Given the description of an element on the screen output the (x, y) to click on. 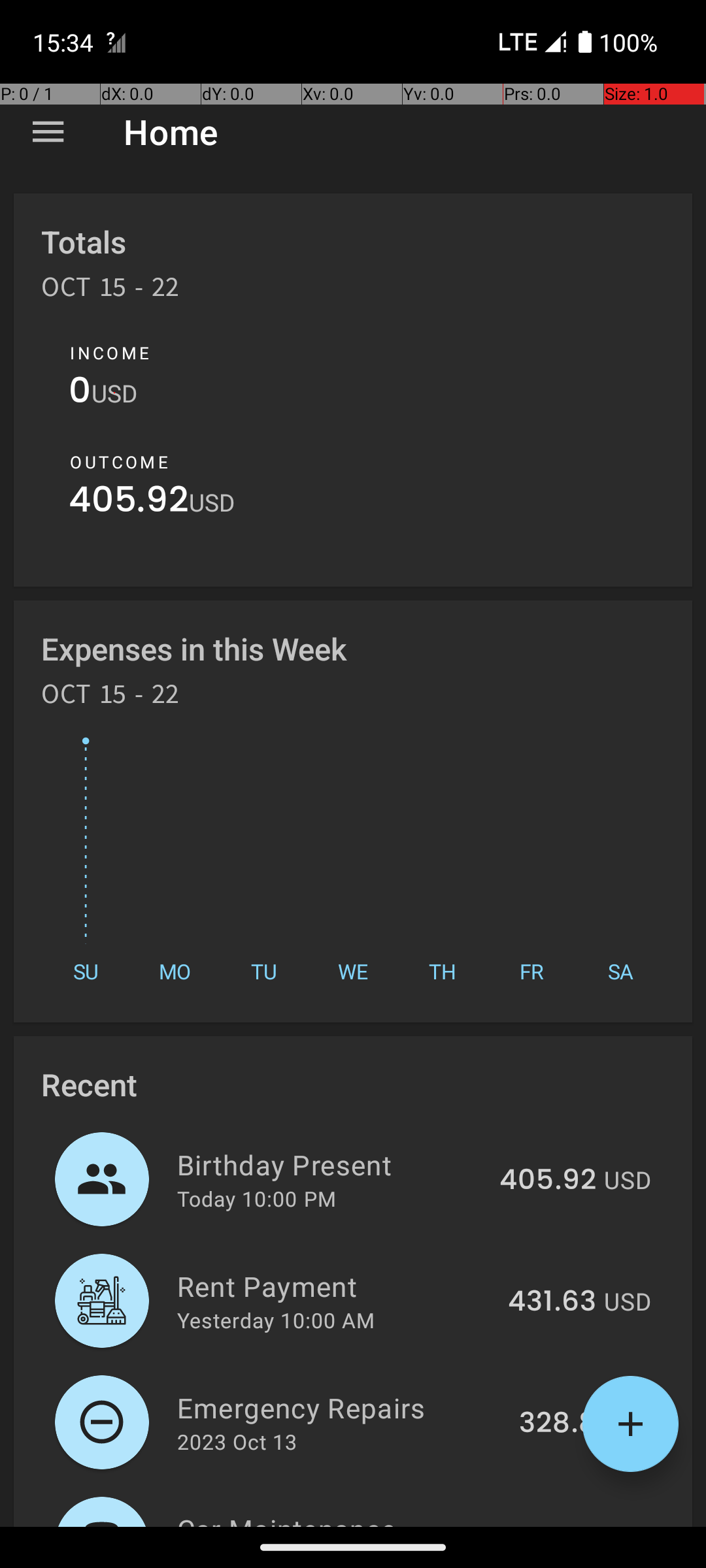
405.92 Element type: android.widget.TextView (128, 502)
Birthday Present Element type: android.widget.TextView (330, 1164)
Today 10:00 PM Element type: android.widget.TextView (256, 1198)
Rent Payment Element type: android.widget.TextView (334, 1285)
Yesterday 10:00 AM Element type: android.widget.TextView (275, 1320)
431.63 Element type: android.widget.TextView (551, 1301)
Emergency Repairs Element type: android.widget.TextView (340, 1407)
328.8 Element type: android.widget.TextView (557, 1423)
Car Maintenance Element type: android.widget.TextView (330, 1518)
388.54 Element type: android.widget.TextView (547, 1524)
